Given the description of an element on the screen output the (x, y) to click on. 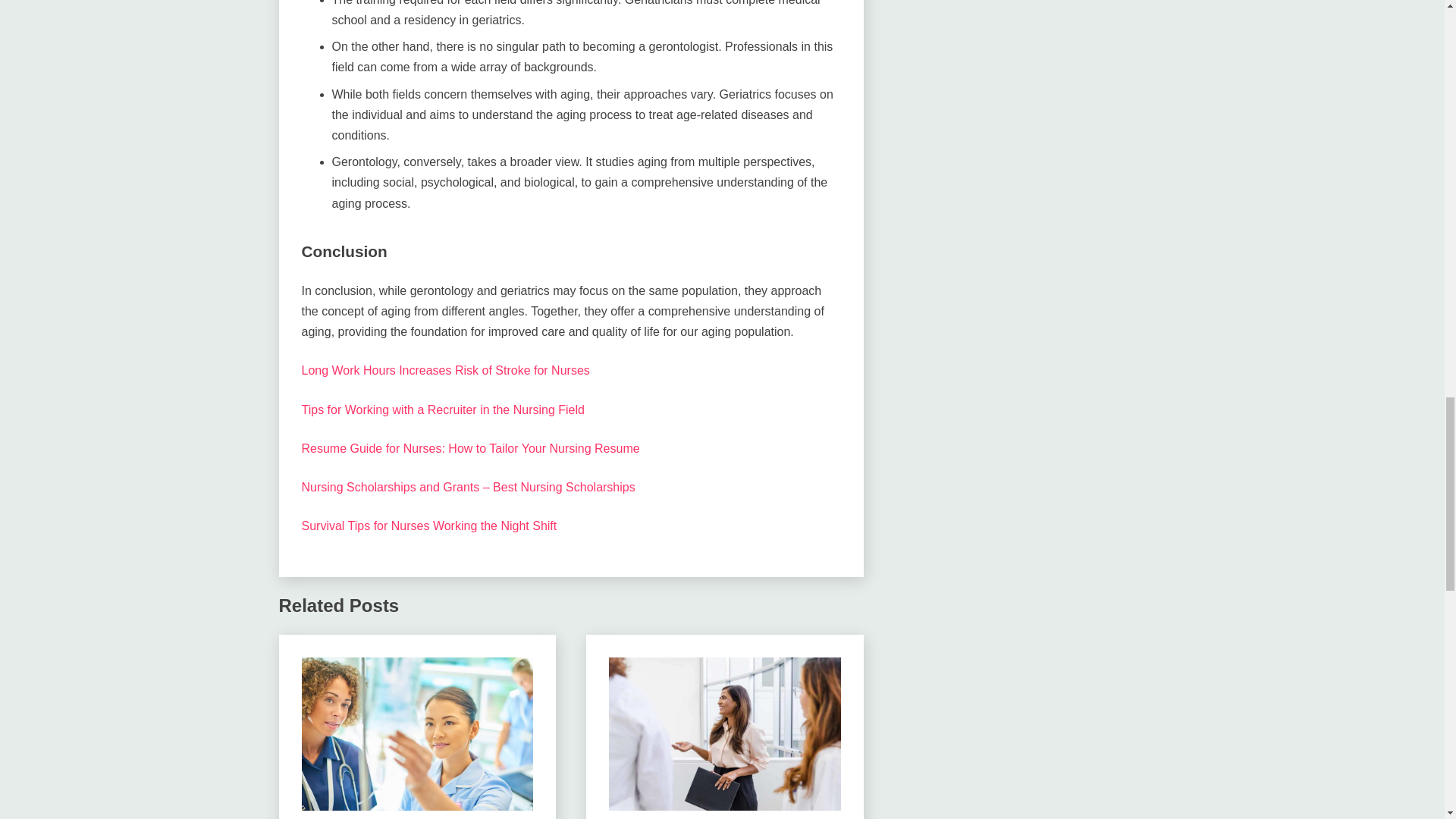
Survival Tips for Nurses Working the Night Shift (429, 525)
Long Work Hours Increases Risk of Stroke for Nurses (445, 369)
Resume Guide for Nurses: How to Tailor Your Nursing Resume (470, 448)
Resume Guide for Nurses: How to Tailor Your Nursing Resume (470, 448)
Tips for Working with a Recruiter in the Nursing Field (443, 409)
Survival Tips for Nurses Working the Night Shift (429, 525)
Tips for Working with a Recruiter in the Nursing Field (443, 409)
Long Work Hours Increases Risk of Stroke for Nurses (445, 369)
